Given the description of an element on the screen output the (x, y) to click on. 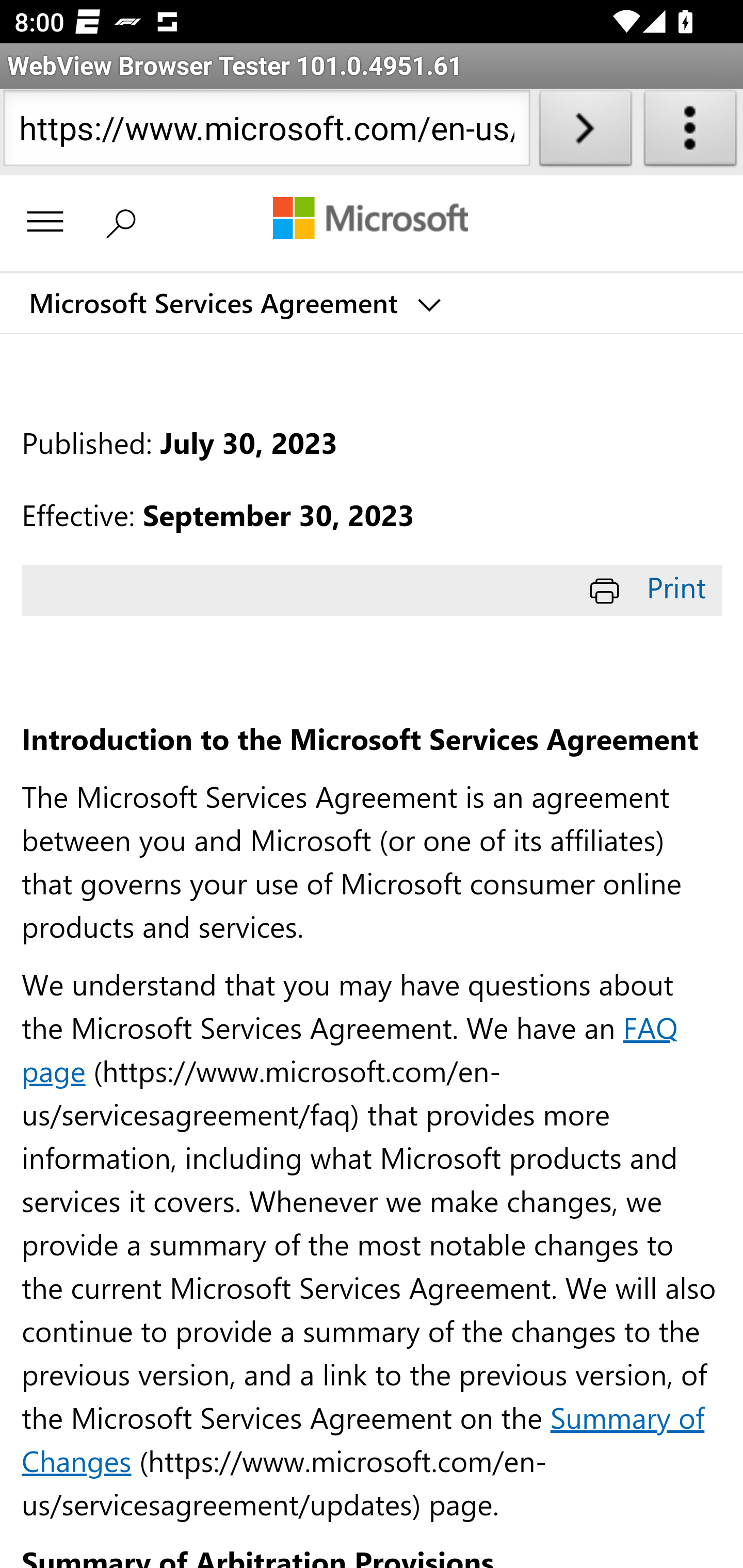
https://www.microsoft.com/en-us/servicesagreement (266, 132)
Load URL (585, 132)
About WebView (690, 132)
Microsoft (370, 219)
Search Microsoft.com (126, 221)
Microsoft Services Agreement (233, 302)
Print (651, 586)
FAQ page (350, 1047)
Summary of Changes (363, 1438)
